Given the description of an element on the screen output the (x, y) to click on. 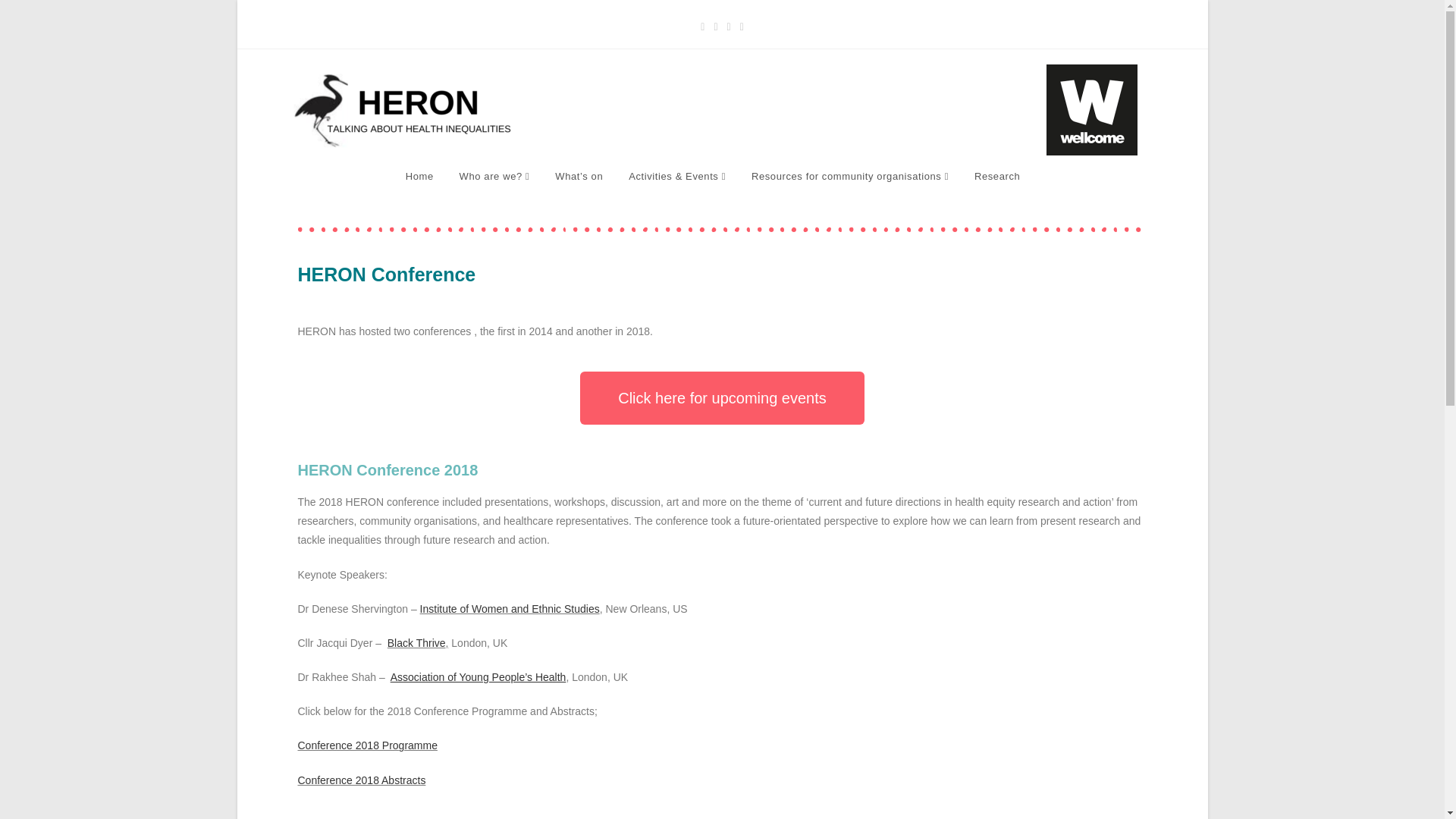
Resources for community organisations (849, 176)
Who are we? (494, 176)
Conference 2018 Abstracts (361, 779)
wellcome (1091, 109)
Home (419, 176)
Research (996, 176)
Black Thrive (416, 643)
Conference 2018 Programme (366, 745)
Institute of Women and Ethnic Studies (509, 608)
Click here for upcoming events (721, 398)
